Given the description of an element on the screen output the (x, y) to click on. 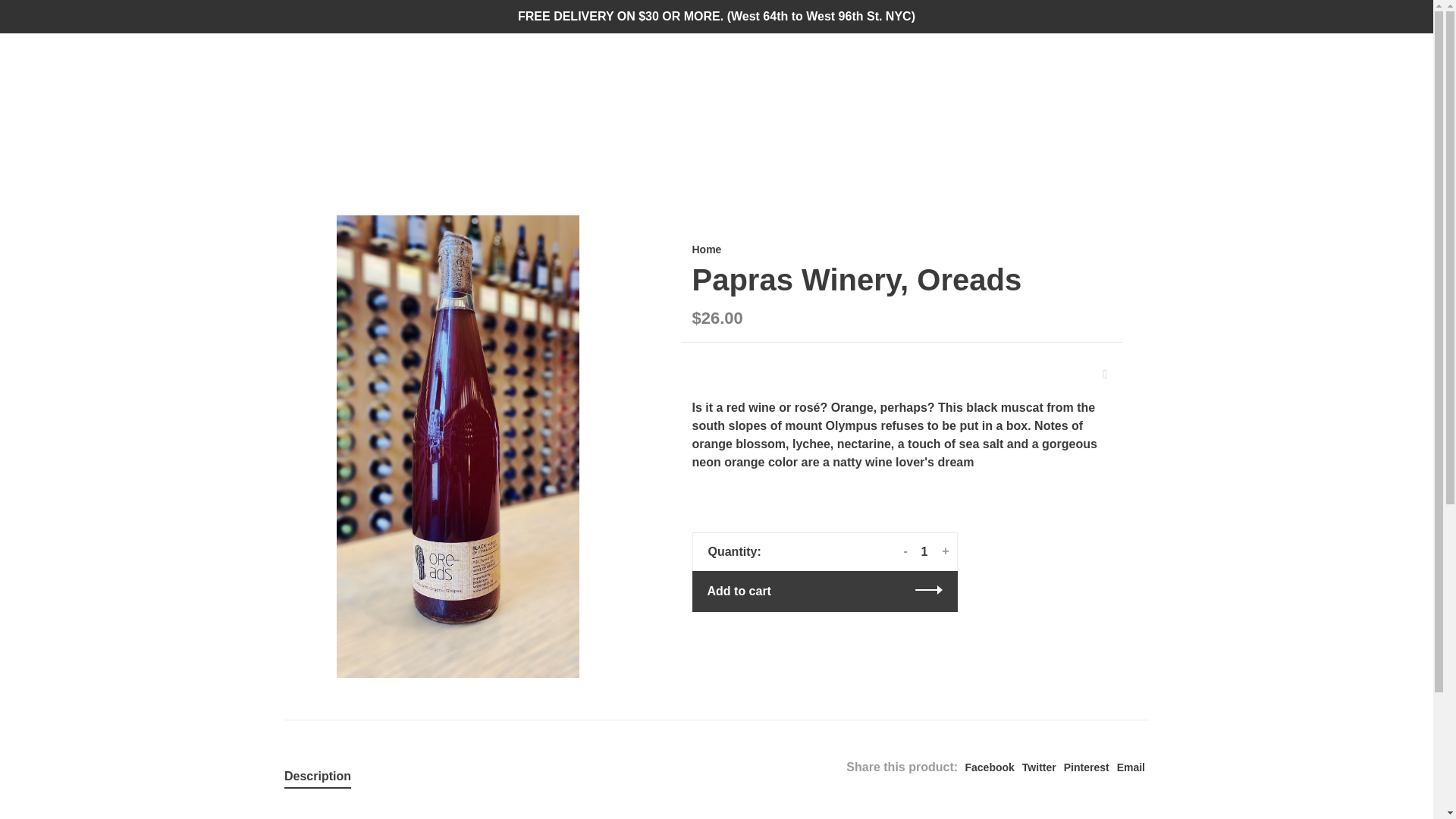
1 (924, 552)
